Given the description of an element on the screen output the (x, y) to click on. 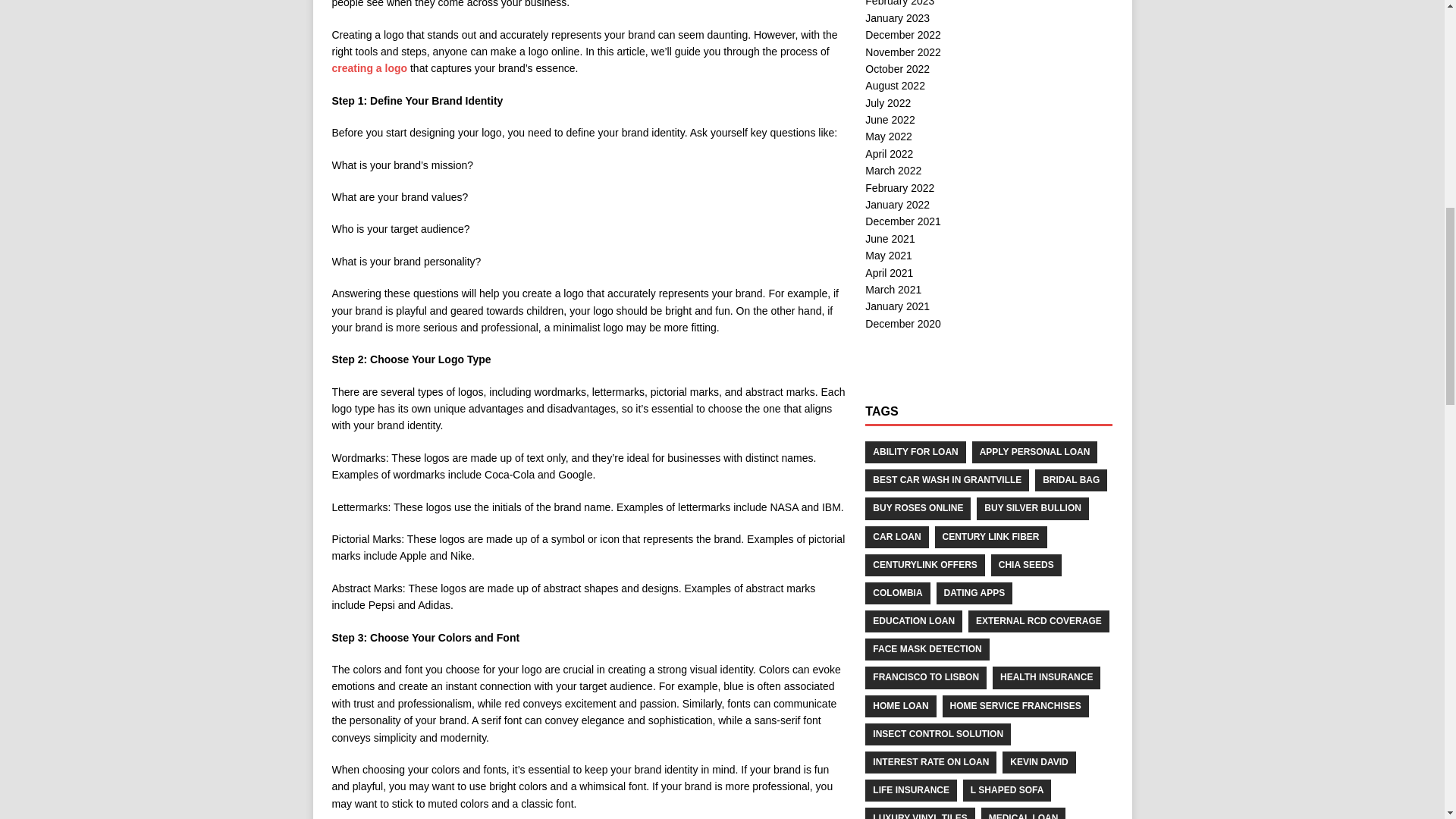
creating a logo (369, 68)
